Given the description of an element on the screen output the (x, y) to click on. 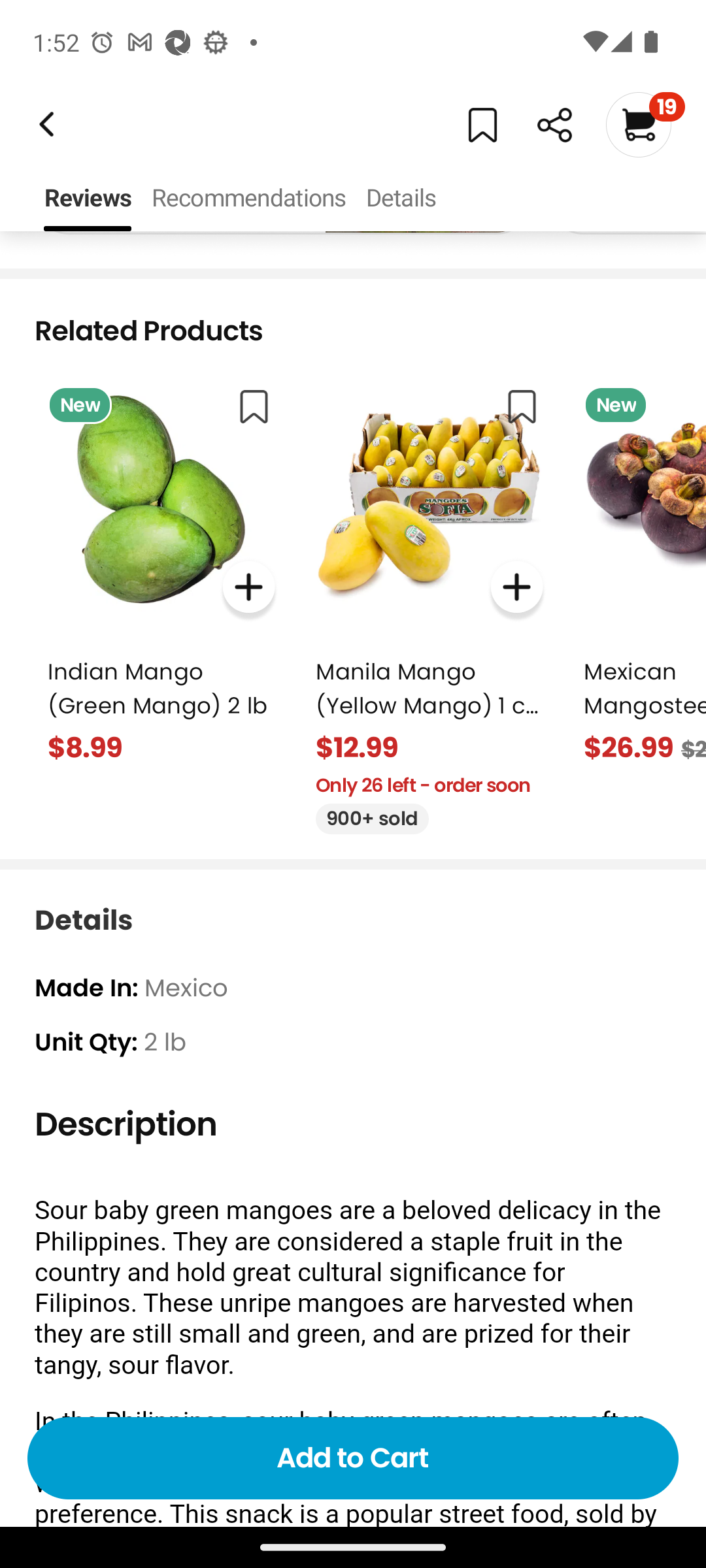
19 (644, 124)
Weee! (45, 124)
Weee! (554, 125)
Reviews (87, 199)
Recommendations (248, 199)
Details (400, 199)
New Indian Mango (Green Mango) 2 lb $8.99 (160, 569)
New Mexican Mangosteens 2-2.2 lb $26.99 $28.99 (637, 569)
Add to Cart (352, 1458)
